Given the description of an element on the screen output the (x, y) to click on. 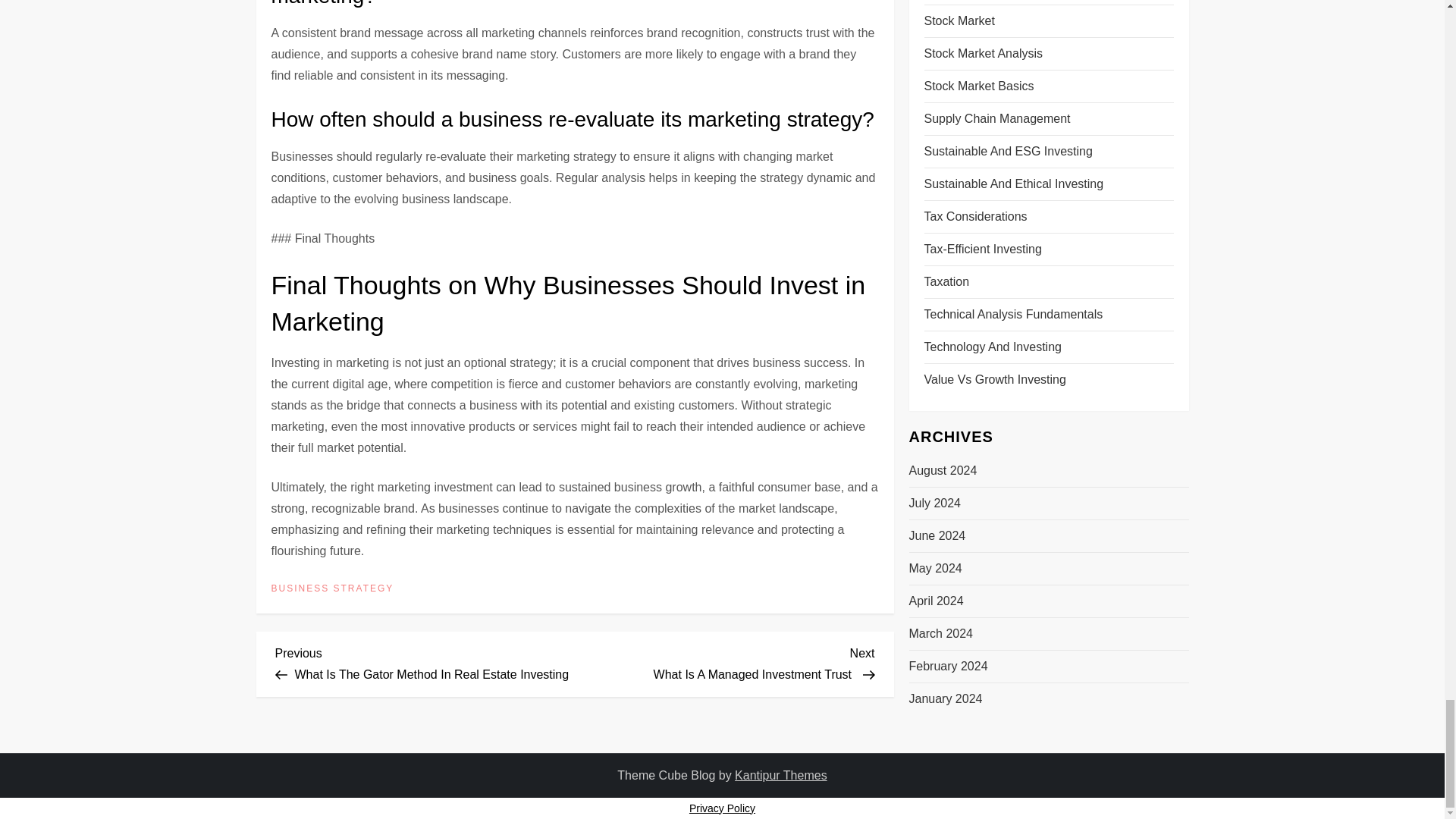
BUSINESS STRATEGY (725, 661)
